Given the description of an element on the screen output the (x, y) to click on. 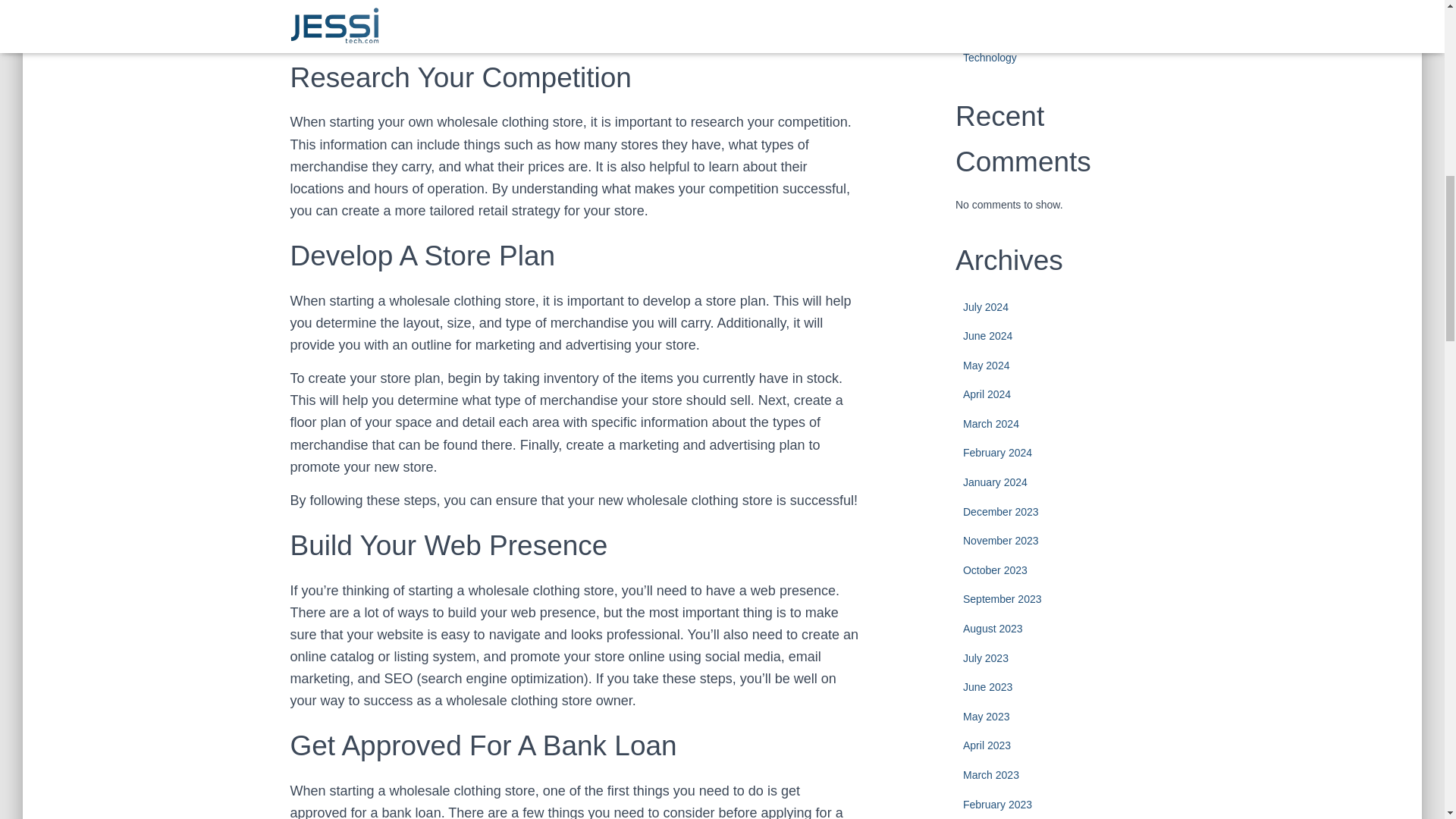
February 2024 (997, 452)
April 2024 (986, 394)
July 2024 (985, 306)
November 2023 (1000, 540)
October 2023 (994, 570)
July 2023 (985, 657)
January 2024 (994, 481)
August 2023 (992, 628)
June 2023 (986, 686)
March 2024 (990, 423)
June 2024 (986, 336)
March 2023 (990, 775)
April 2023 (986, 745)
February 2023 (997, 804)
